Given the description of an element on the screen output the (x, y) to click on. 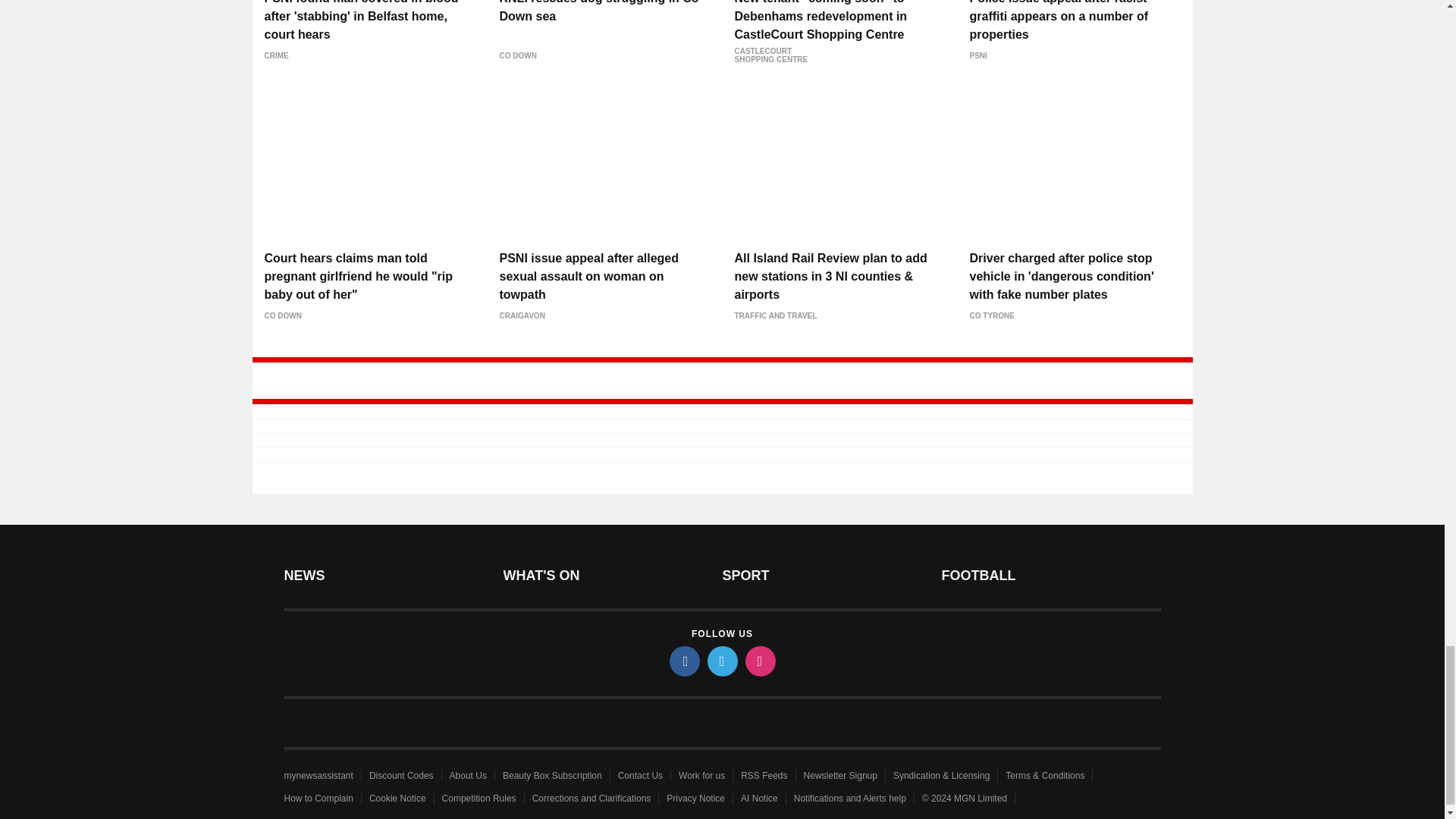
twitter (721, 661)
instagram (759, 661)
facebook (683, 661)
